Given the description of an element on the screen output the (x, y) to click on. 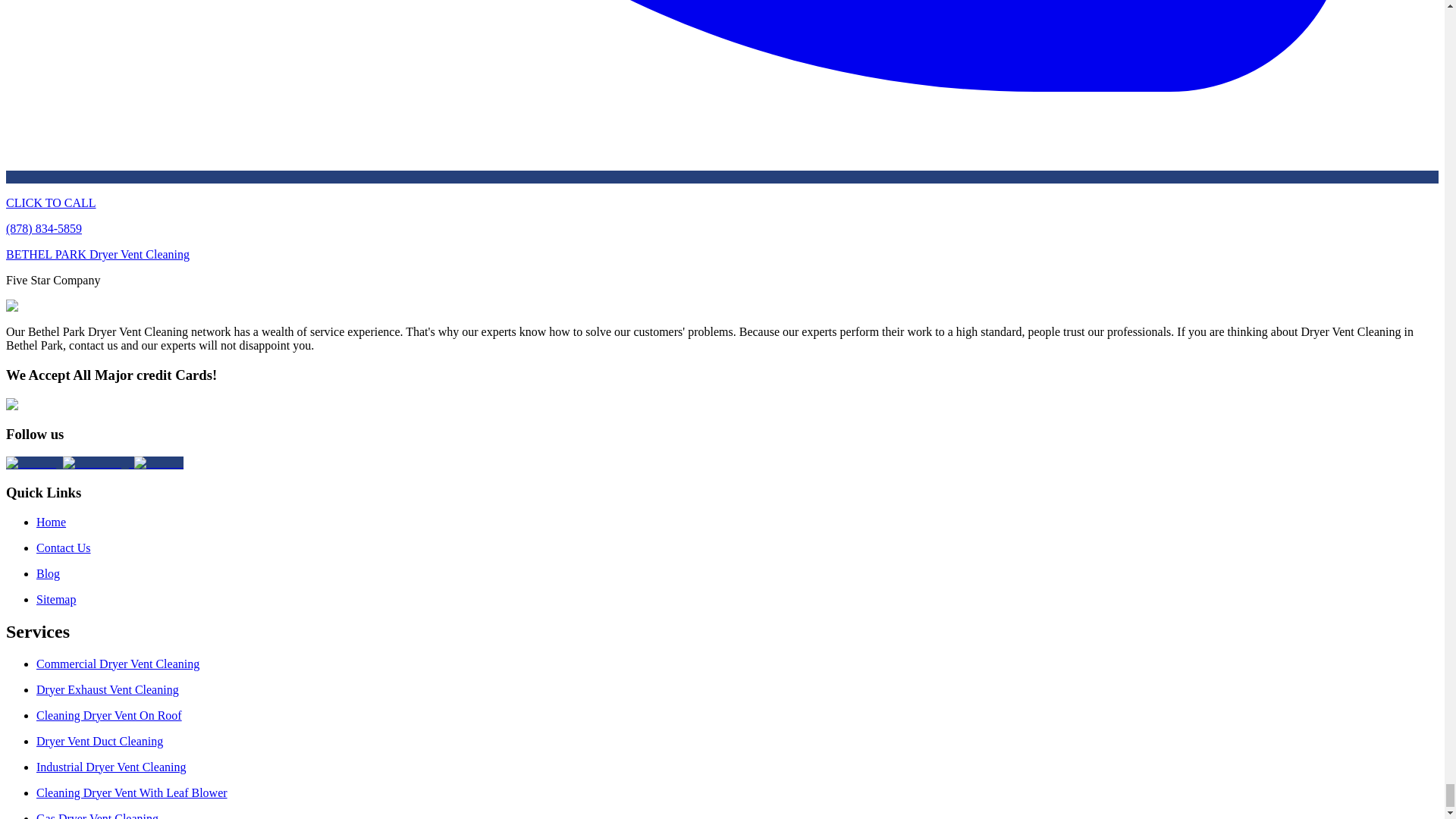
Facebook logo (158, 463)
Instagram (33, 462)
Bank Card Image (43, 404)
Facebook (158, 462)
Star Set Image (36, 305)
Twitter (97, 462)
twitter logo (97, 463)
Instagram icon (33, 463)
